Given the description of an element on the screen output the (x, y) to click on. 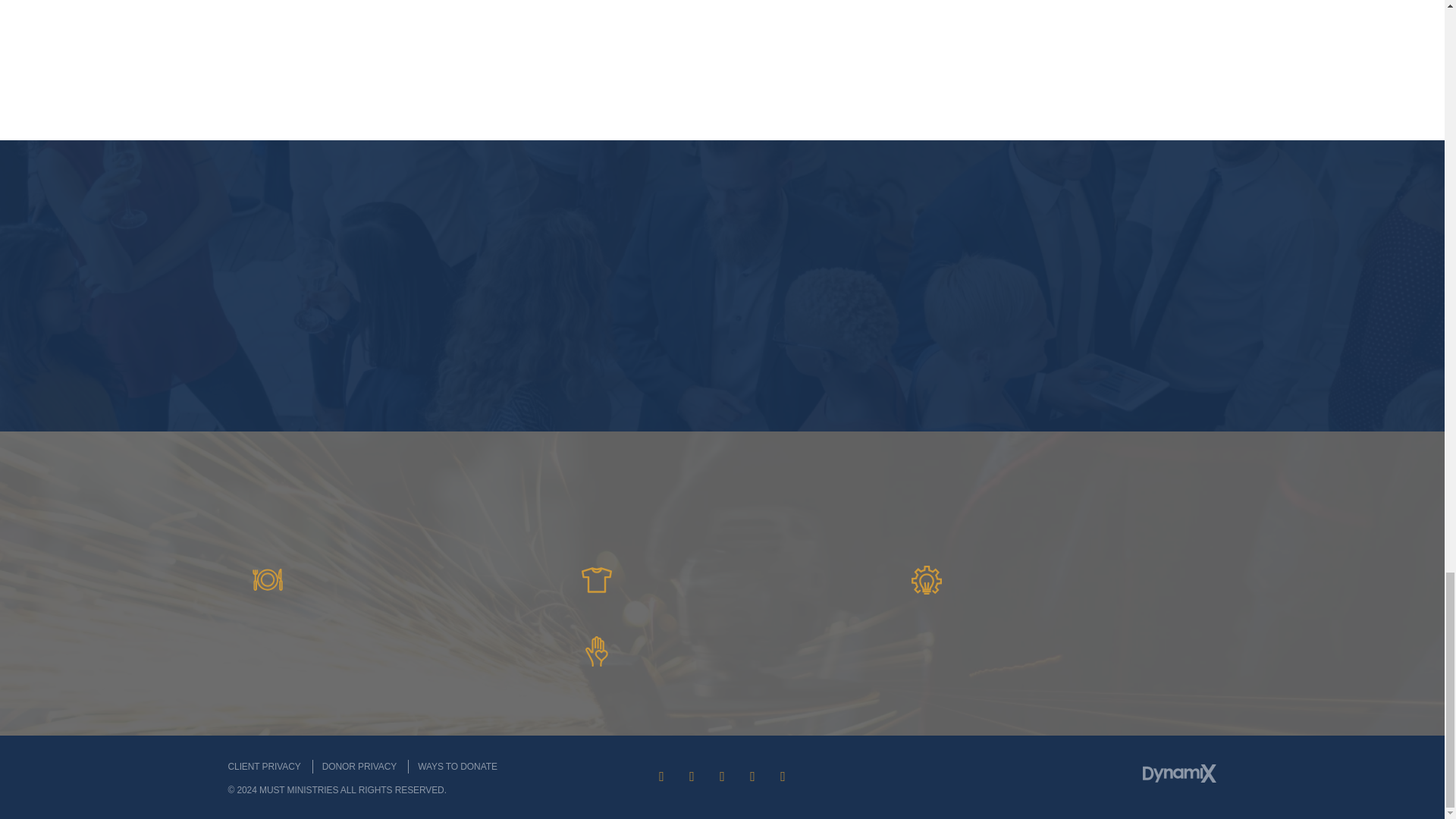
Instagram (782, 777)
YouTube (721, 777)
Facebook (661, 777)
LinkedIn (751, 777)
